Given the description of an element on the screen output the (x, y) to click on. 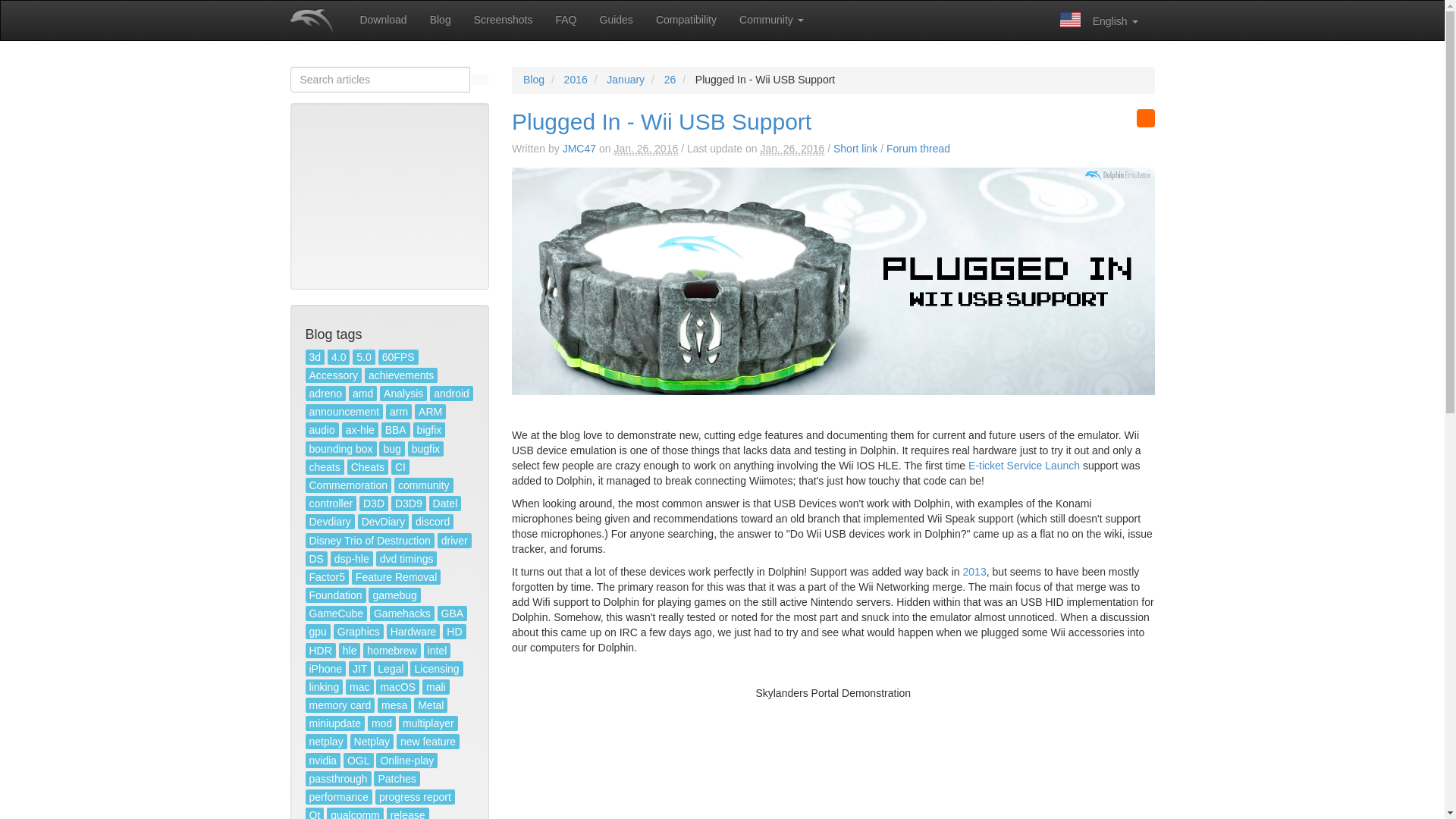
FAQ (566, 19)
Guides (616, 19)
Visit forum thread for this article (918, 148)
Blog (441, 19)
Short URL to Plugged In - Wii USB Support (854, 148)
Blog (533, 79)
English (1099, 20)
2016 (576, 79)
RSS feed of the latest articles (1144, 117)
26 (670, 79)
Compatibility (686, 19)
Download (382, 19)
Community (771, 19)
Show all JMC47's entries (578, 148)
January (626, 79)
